Given the description of an element on the screen output the (x, y) to click on. 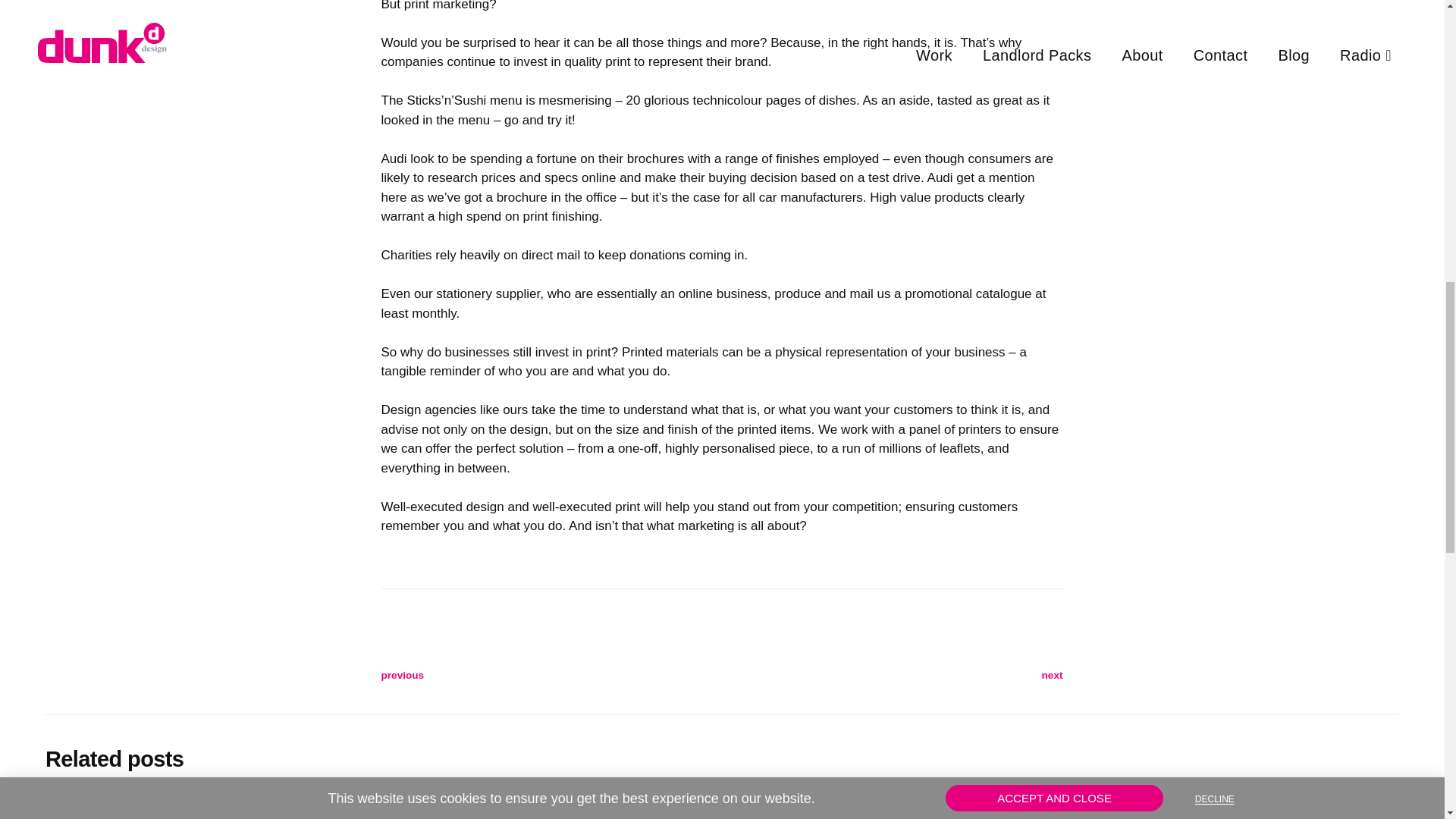
next (892, 675)
Scroll back to top (1406, 720)
previous (551, 675)
